Given the description of an element on the screen output the (x, y) to click on. 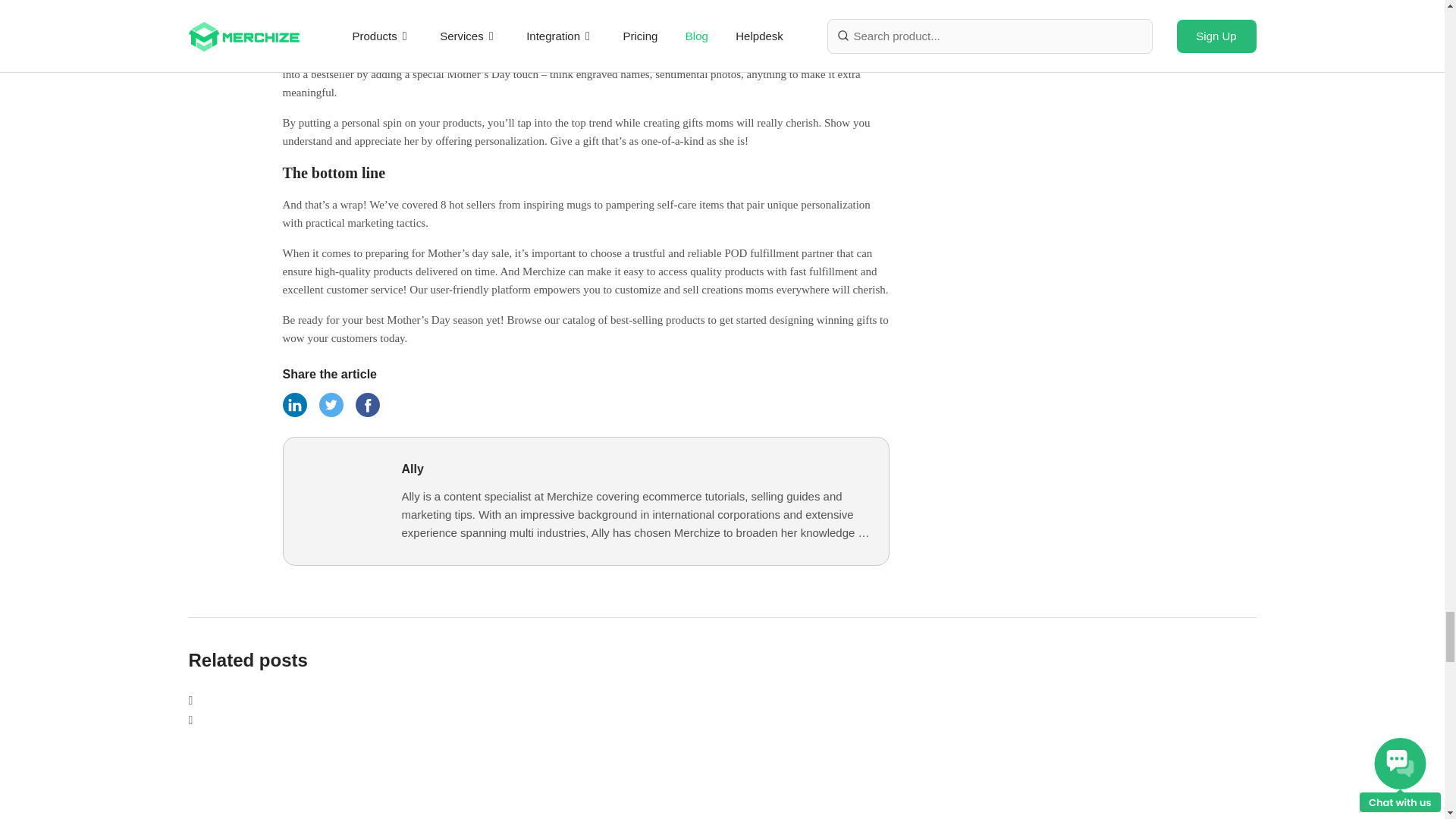
material for heat press T-shirt printing (380, 774)
Facebook (293, 413)
Twitter (330, 413)
